Given the description of an element on the screen output the (x, y) to click on. 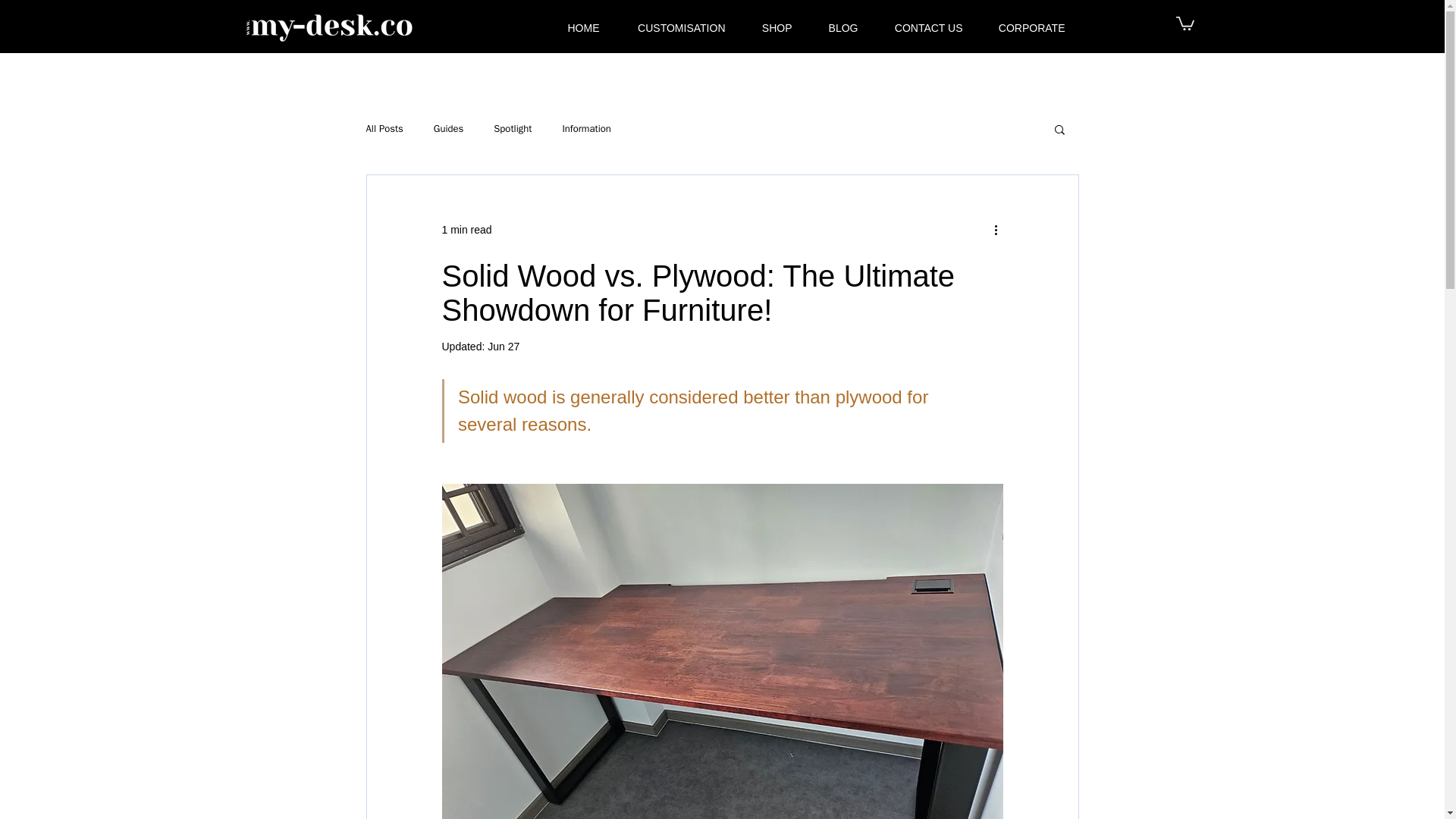
BLOG (836, 27)
CUSTOMISATION (673, 27)
Jun 27 (503, 346)
Information (586, 128)
Spotlight (512, 128)
HOME (576, 27)
CONTACT US (922, 27)
All Posts (384, 128)
CORPORATE (1026, 27)
Guides (448, 128)
1 min read (466, 229)
SHOP (769, 27)
